Given the description of an element on the screen output the (x, y) to click on. 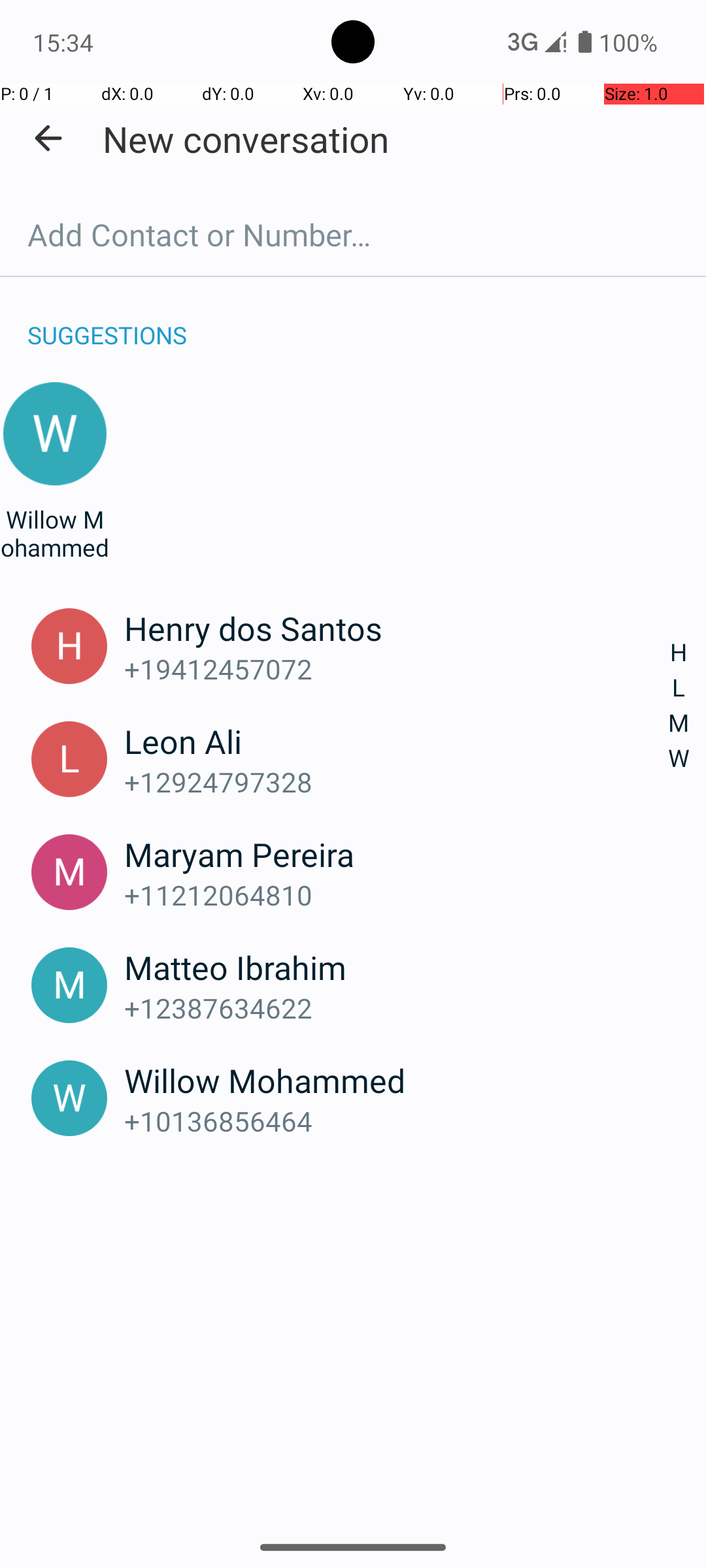
SUGGESTIONS Element type: android.widget.TextView (106, 321)
H
L
M
W Element type: android.widget.TextView (678, 705)
Willow Mohammed Element type: android.widget.TextView (54, 532)
Henry dos Santos Element type: android.widget.TextView (397, 627)
+19412457072 Element type: android.widget.TextView (397, 668)
Leon Ali Element type: android.widget.TextView (397, 740)
+12924797328 Element type: android.widget.TextView (397, 781)
Maryam Pereira Element type: android.widget.TextView (397, 853)
+11212064810 Element type: android.widget.TextView (397, 894)
Matteo Ibrahim Element type: android.widget.TextView (397, 966)
+12387634622 Element type: android.widget.TextView (397, 1007)
+10136856464 Element type: android.widget.TextView (397, 1120)
